Given the description of an element on the screen output the (x, y) to click on. 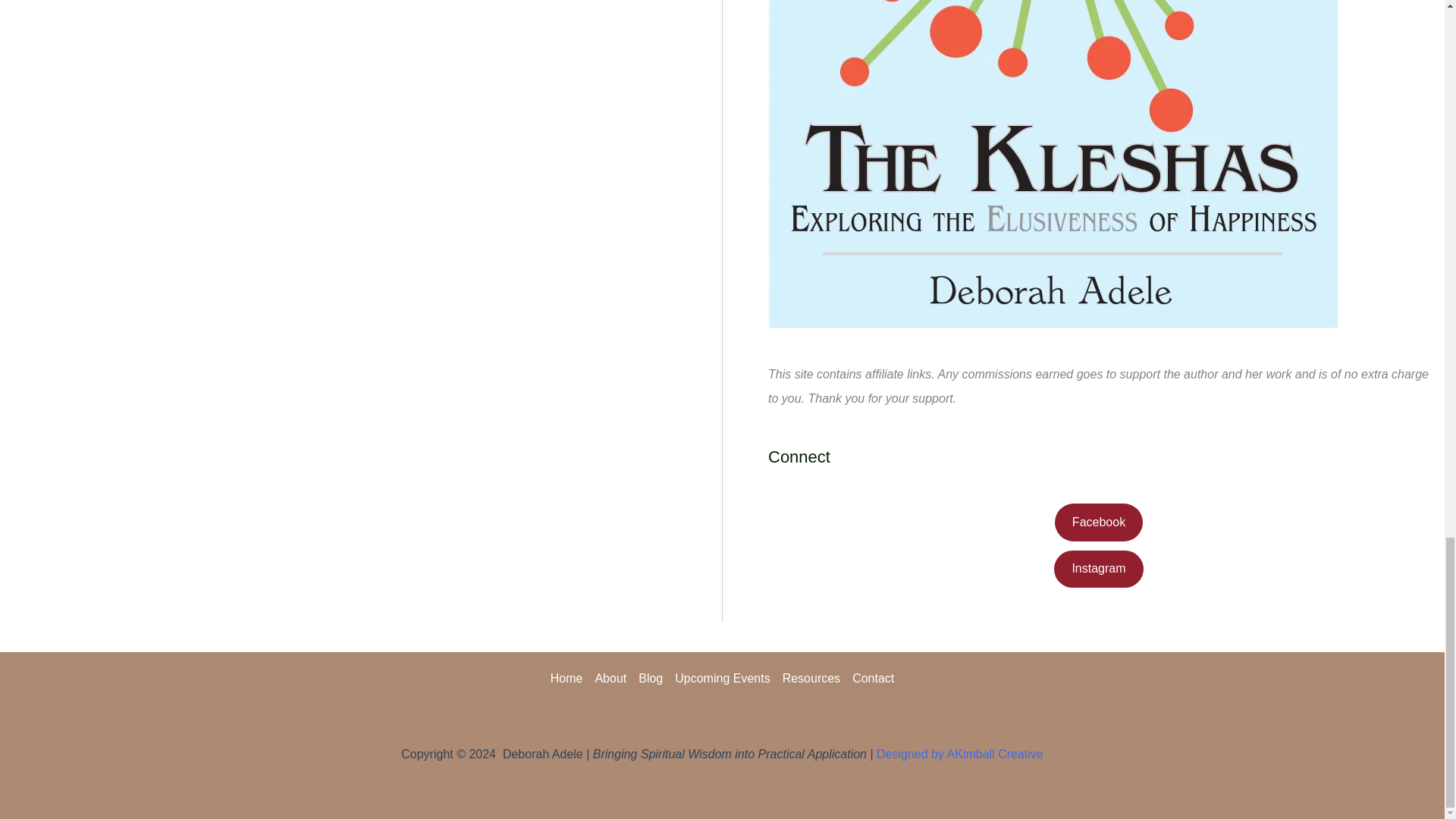
Facebook (1098, 521)
Instagram (1098, 569)
